Given the description of an element on the screen output the (x, y) to click on. 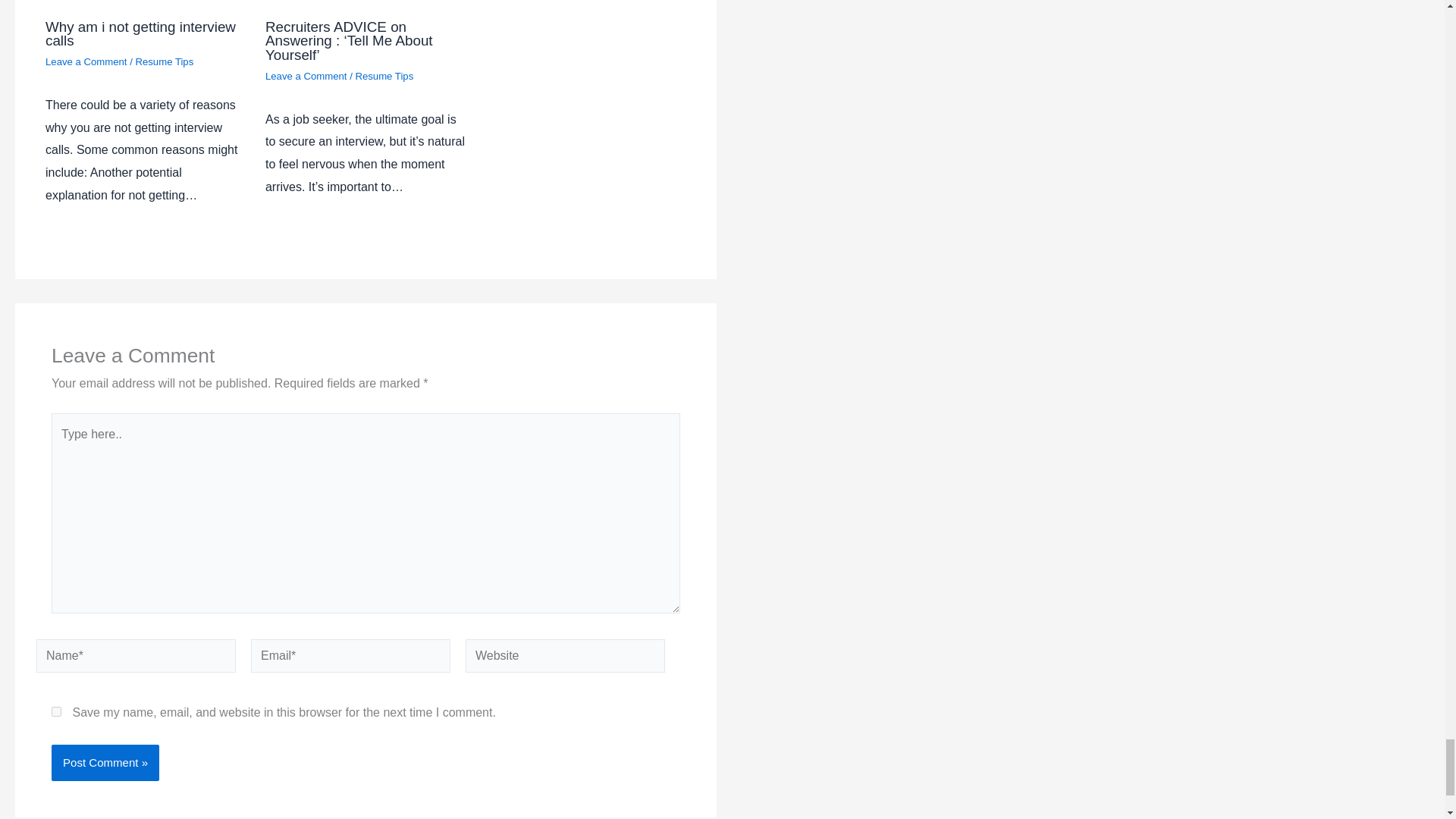
yes (55, 711)
Why am i not getting interview calls (140, 33)
Resume Tips (164, 61)
Leave a Comment (86, 61)
